Given the description of an element on the screen output the (x, y) to click on. 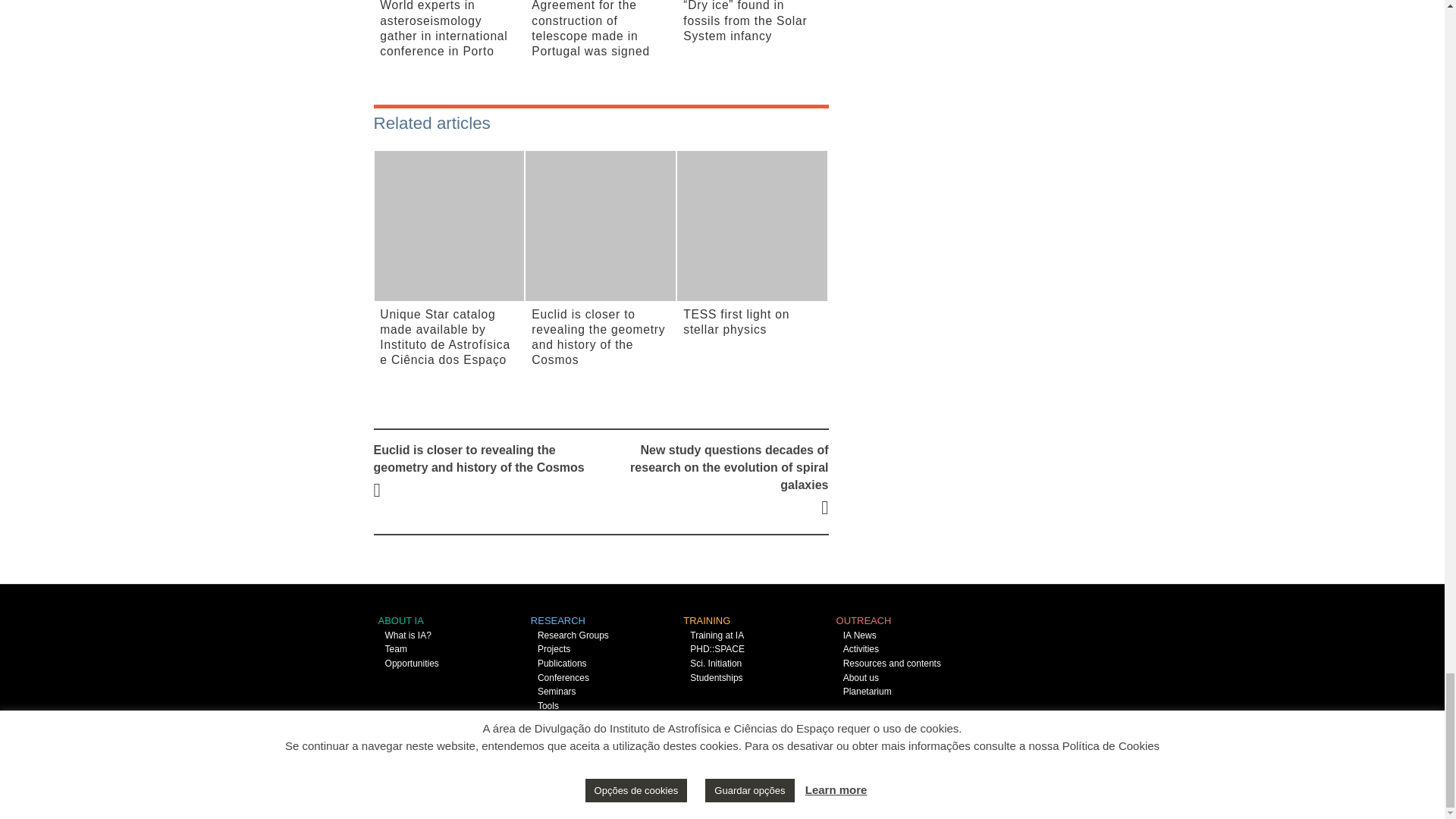
TESS first light on stellar physics (752, 229)
